Given the description of an element on the screen output the (x, y) to click on. 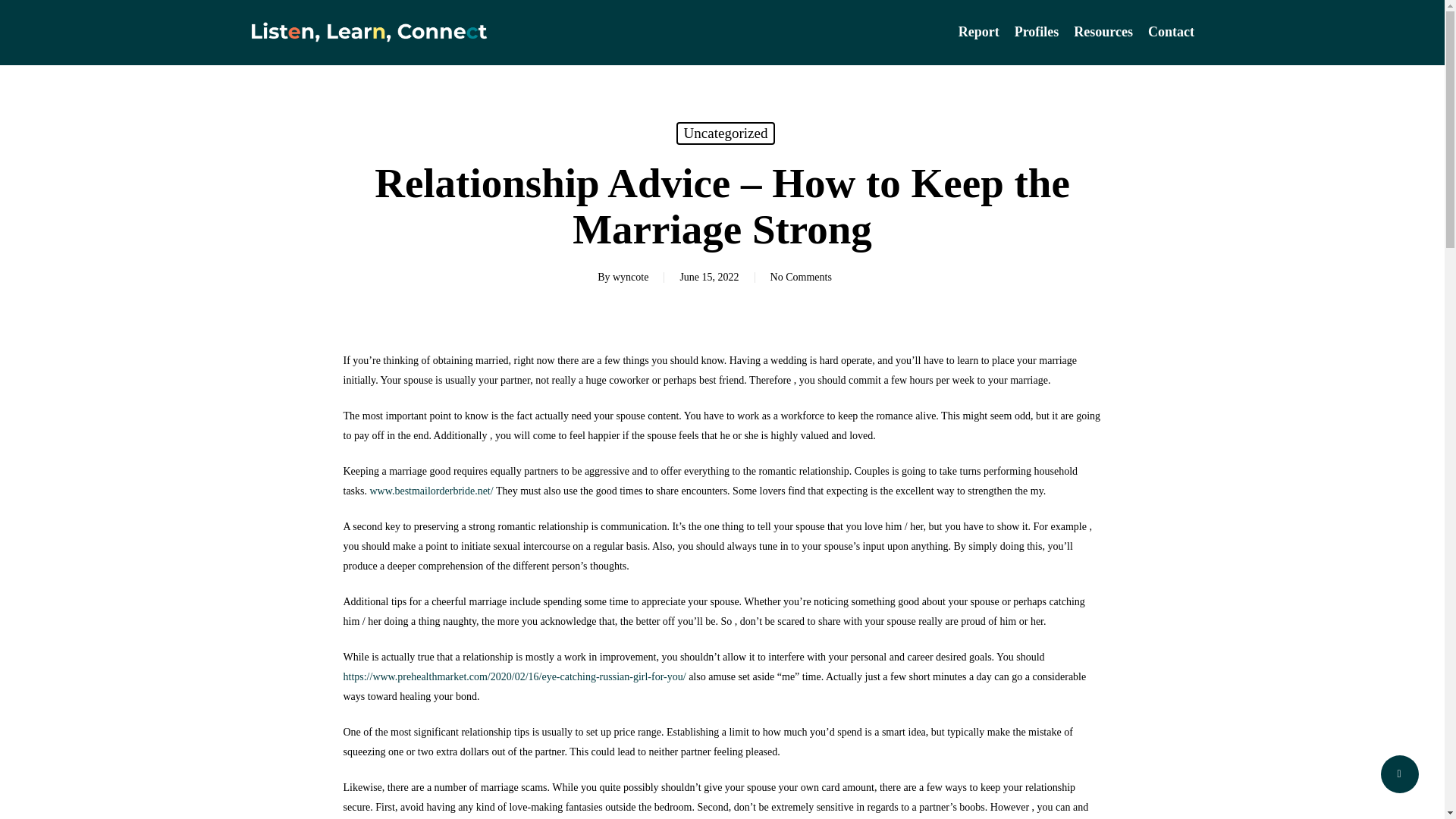
Uncategorized (726, 133)
Report (978, 31)
Menu (1415, 7)
Profiles (1037, 31)
No Comments (800, 276)
Contact (1166, 31)
Posts by wyncote (629, 276)
wyncote (629, 276)
Resources (1102, 31)
